Given the description of an element on the screen output the (x, y) to click on. 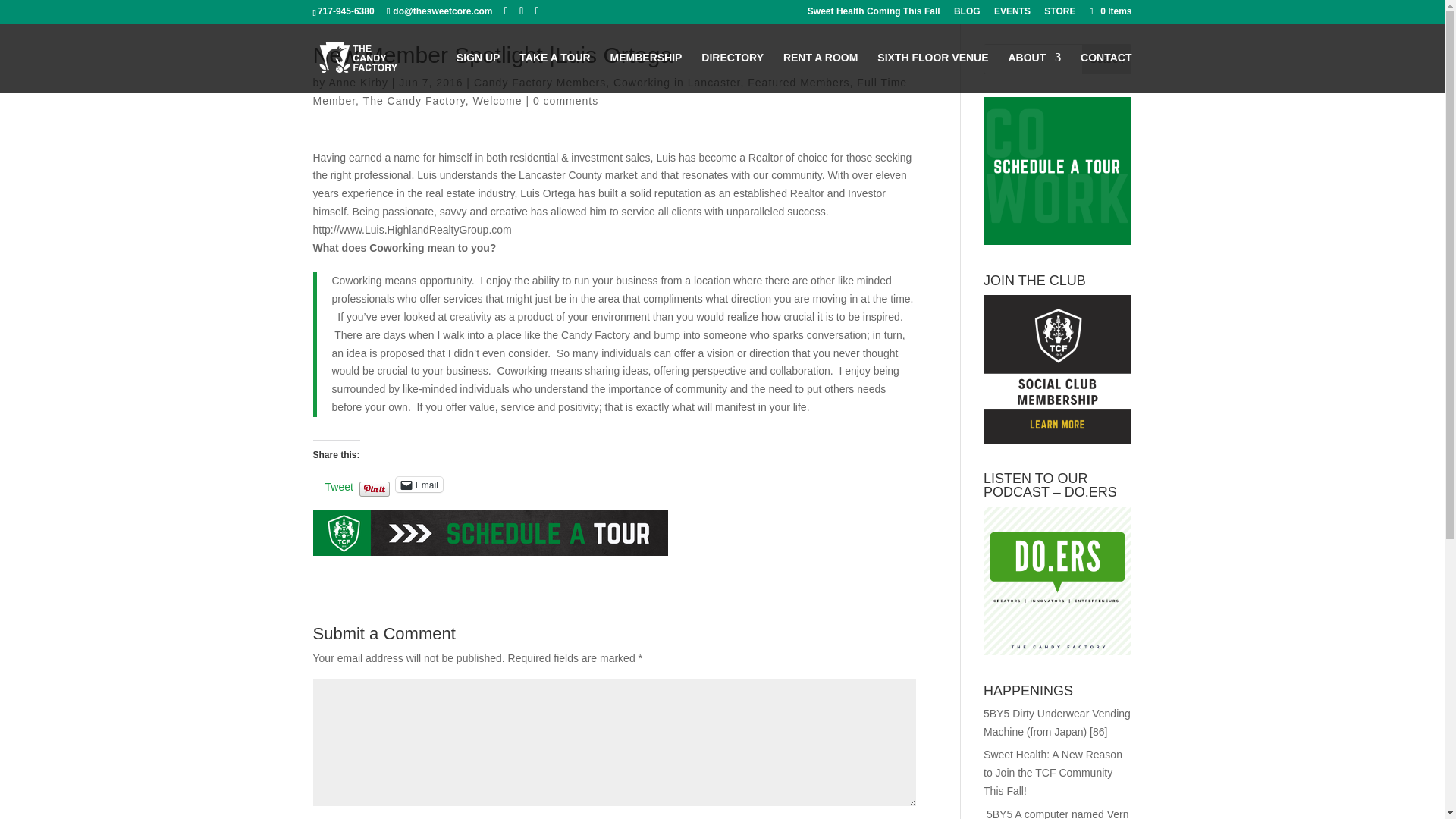
STORE (1059, 14)
ABOUT (1034, 72)
Sweet Health Coming This Fall (874, 14)
SIXTH FLOOR VENUE (932, 72)
MEMBERSHIP (646, 72)
DIRECTORY (731, 72)
Click to email a link to a friend (419, 484)
RENT A ROOM (821, 72)
Search (1106, 59)
Posts by Anne Kirby (358, 82)
TAKE A TOUR (554, 72)
SIGN UP (478, 72)
BLOG (966, 14)
CONTACT (1105, 72)
0 Items (1108, 10)
